Given the description of an element on the screen output the (x, y) to click on. 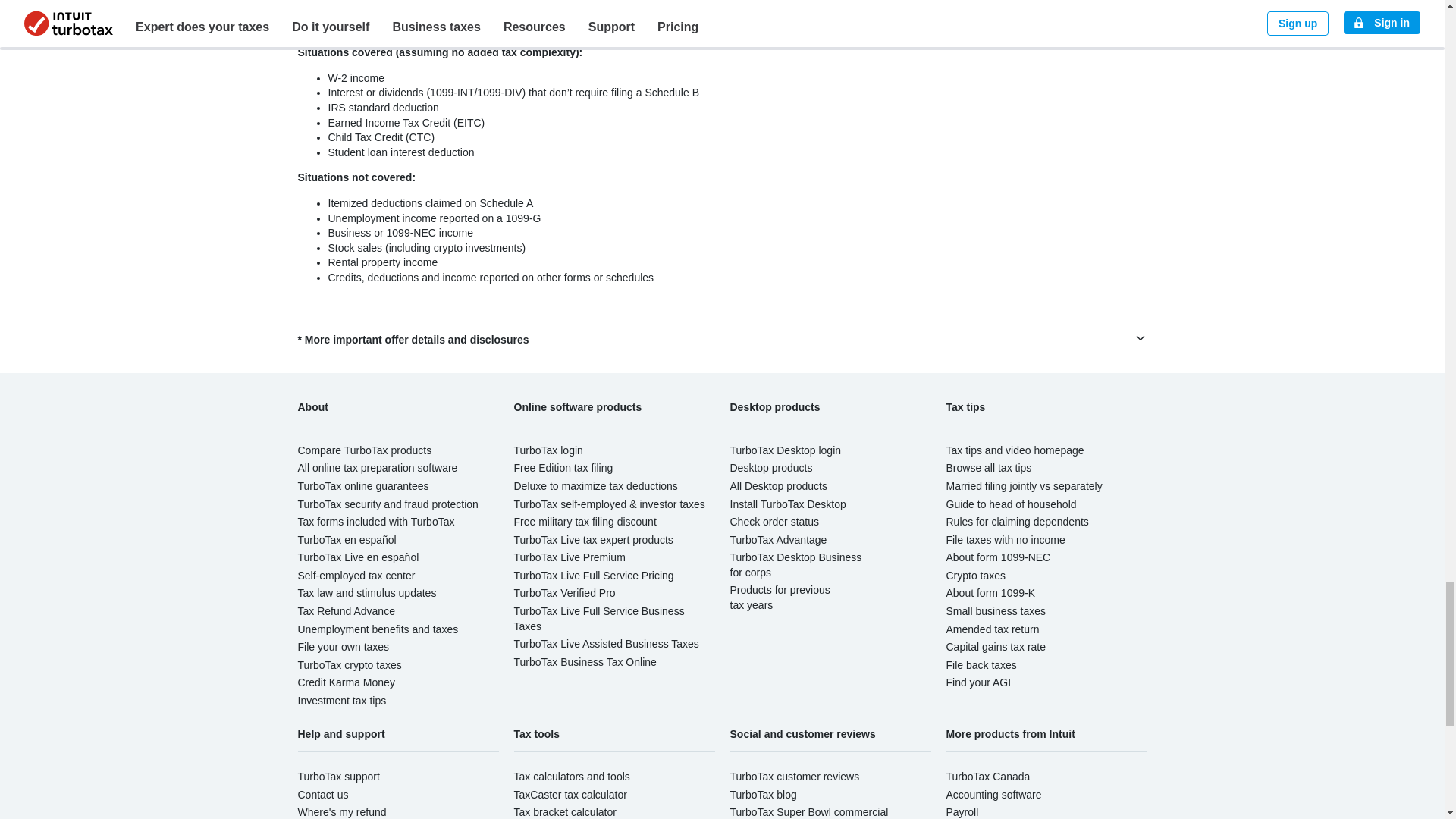
Deluxe to maximize tax deductions (595, 485)
Free Military tax filing discount (584, 521)
Compare TurboTax products (363, 450)
Free Edition tax filing (562, 467)
Install TurboTax Desktop (787, 503)
TurboTax Verified Pro (564, 592)
Check order status (773, 521)
All online tax preparation software (377, 467)
TurboTax login (548, 450)
TurboTax Live tax expert products (592, 539)
